Given the description of an element on the screen output the (x, y) to click on. 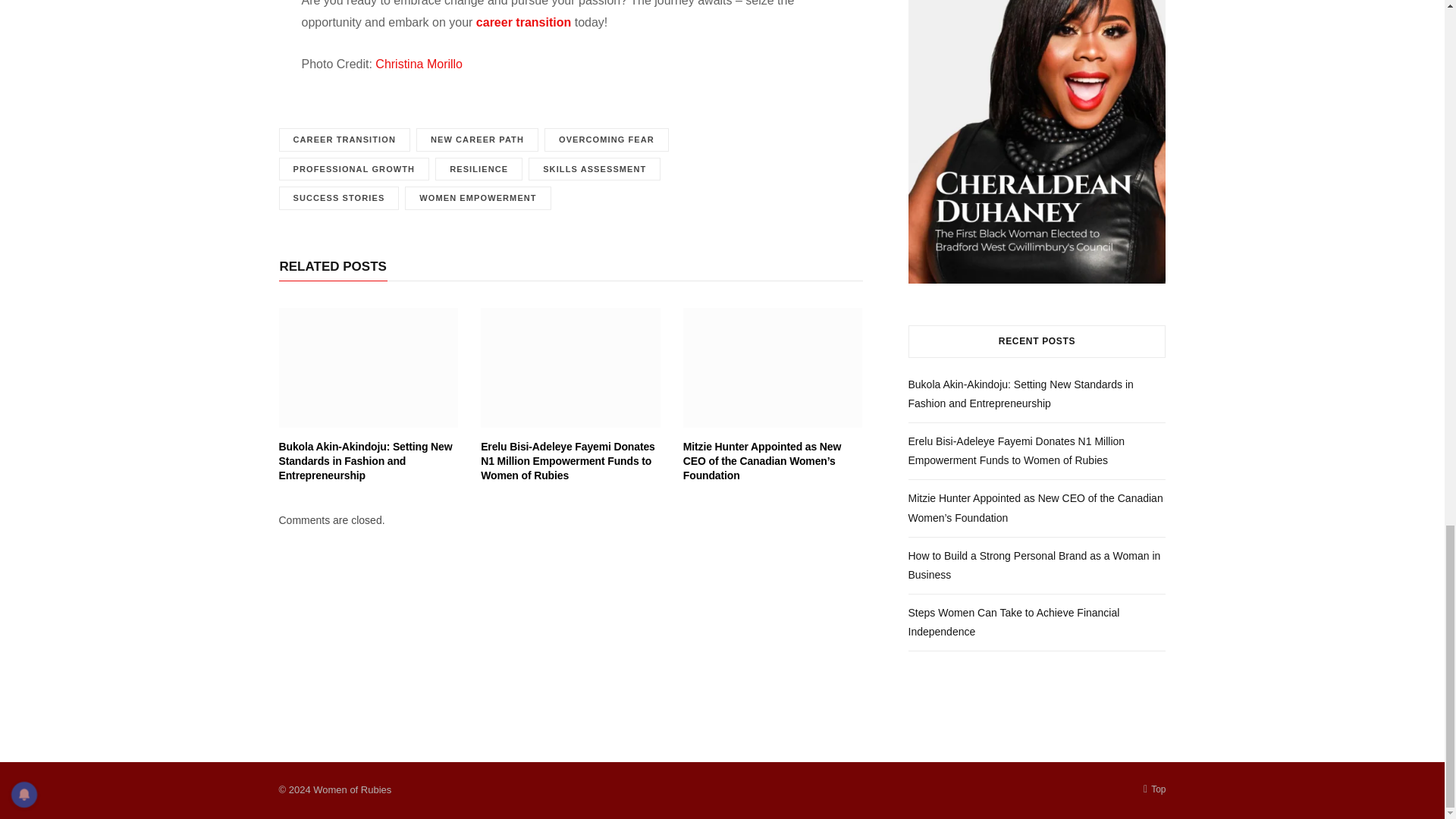
NEW CAREER PATH (477, 139)
Christina Morillo (417, 63)
PROFESSIONAL GROWTH (354, 169)
CAREER TRANSITION (344, 139)
SKILLS ASSESSMENT (594, 169)
career transition (523, 21)
OVERCOMING FEAR (606, 139)
RESILIENCE (478, 169)
SUCCESS STORIES (338, 197)
WOMEN EMPOWERMENT (477, 197)
